Given the description of an element on the screen output the (x, y) to click on. 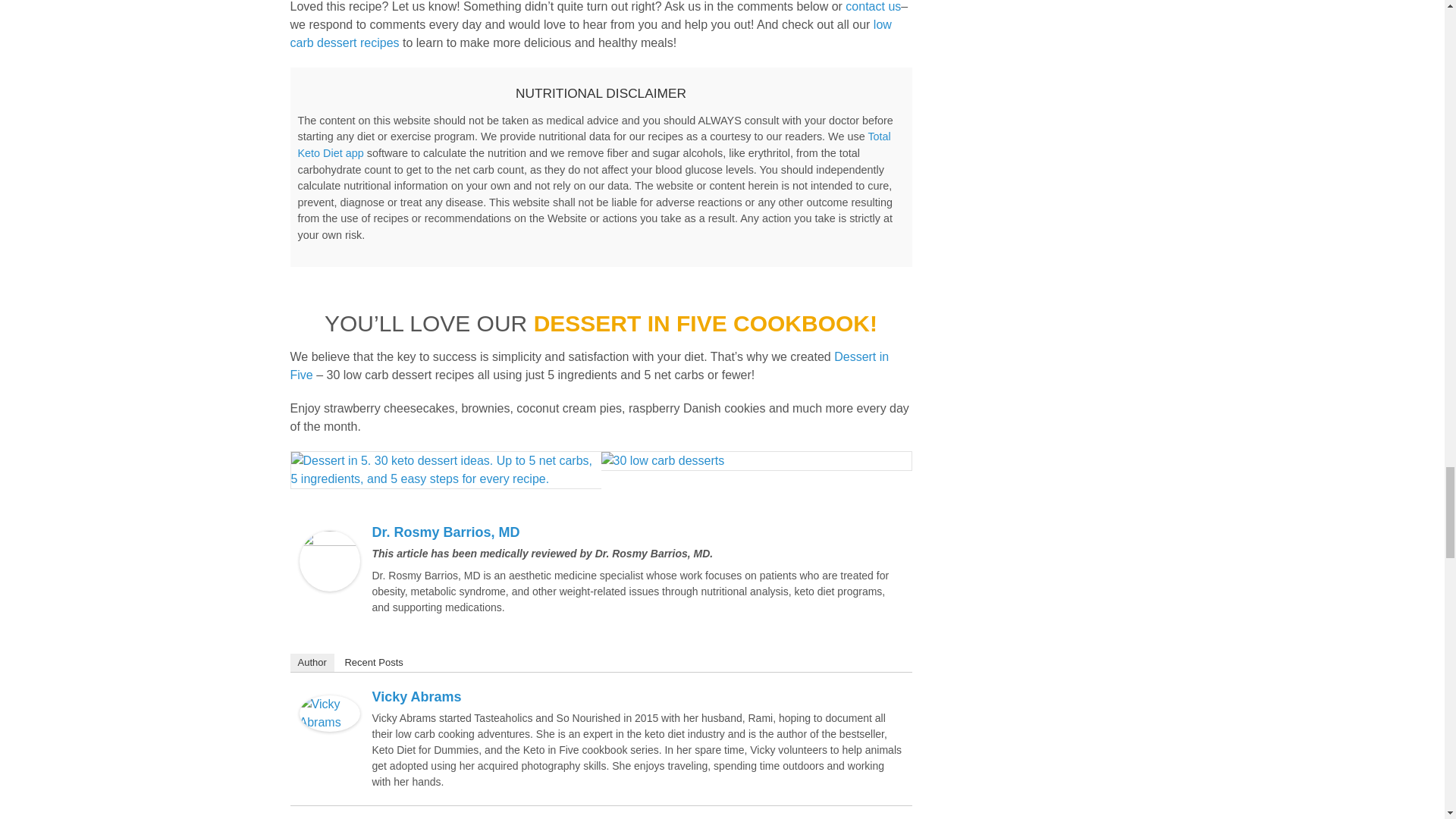
Vicky Abrams (328, 703)
